Given the description of an element on the screen output the (x, y) to click on. 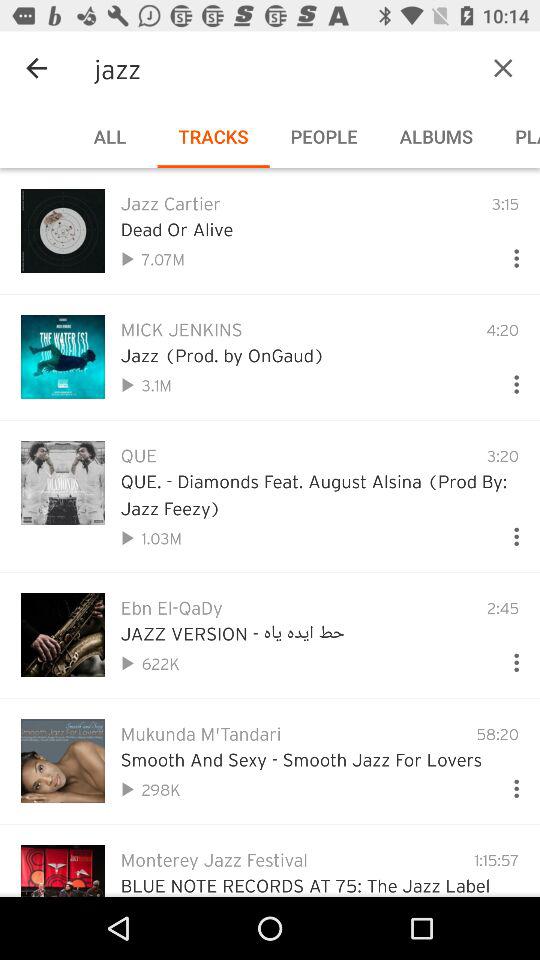
click on the three dots (508, 254)
